Given the description of an element on the screen output the (x, y) to click on. 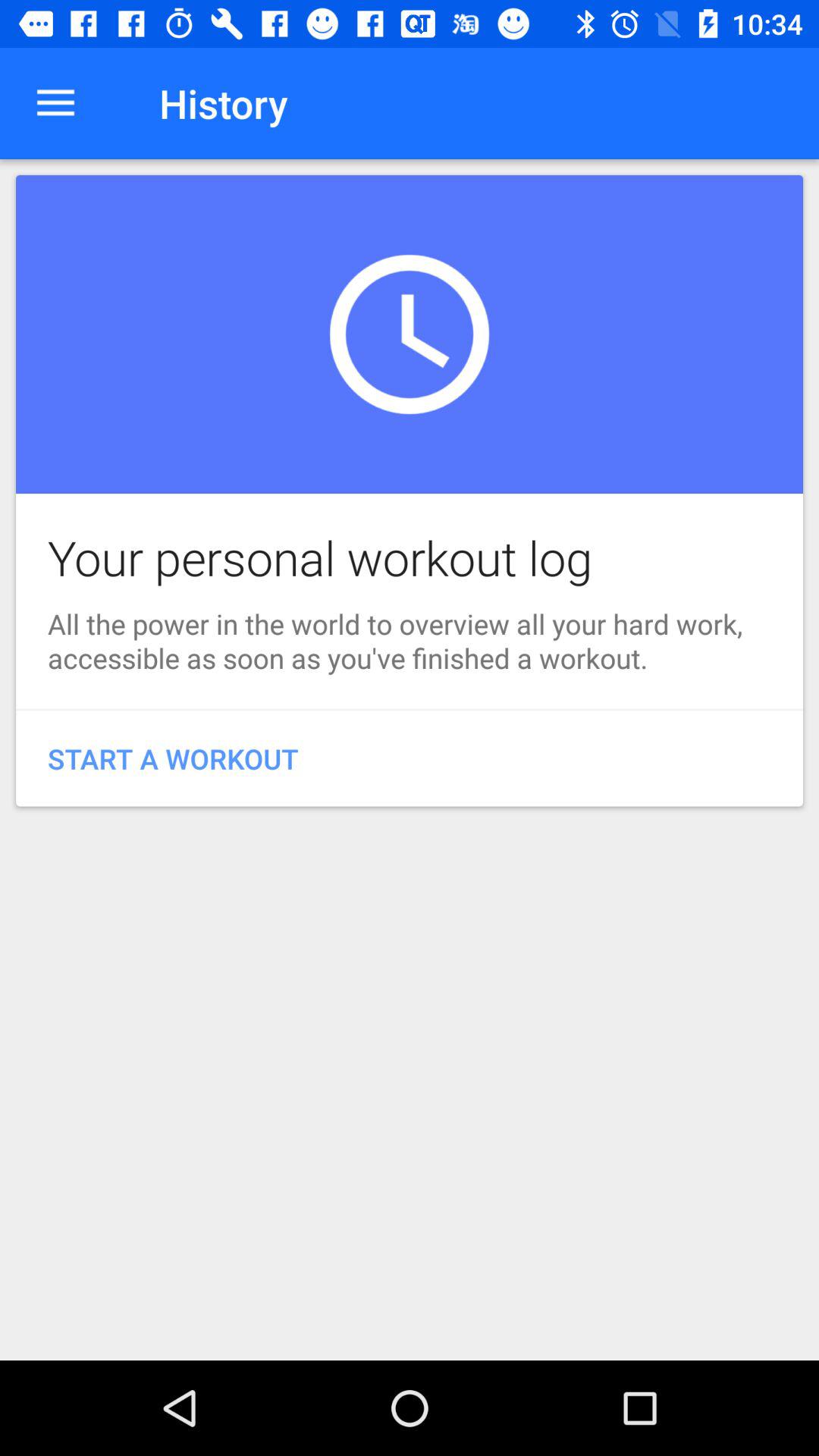
tap item to the left of the history item (55, 103)
